Given the description of an element on the screen output the (x, y) to click on. 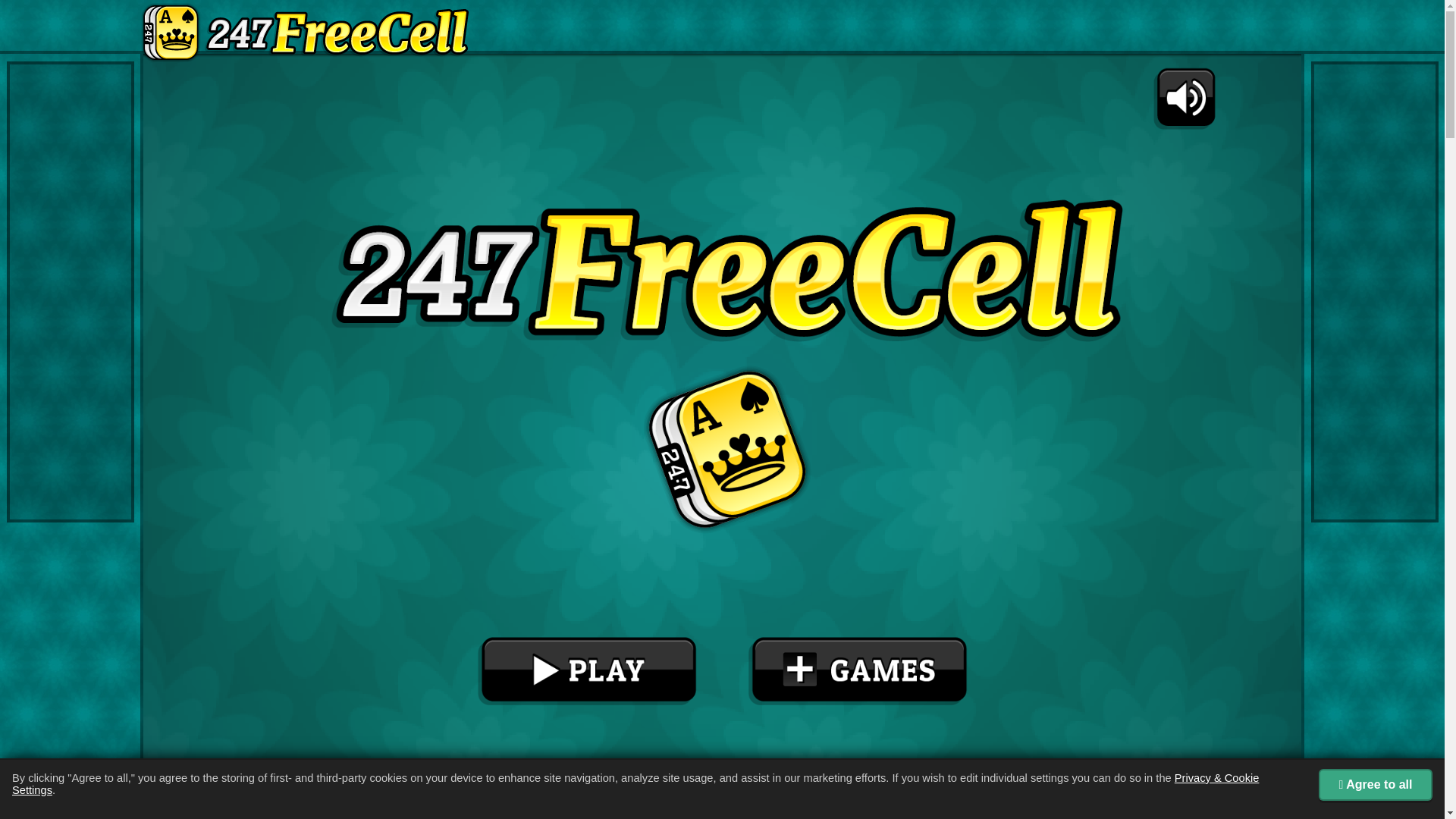
Privacy & Cookie Settings Element type: text (635, 783)
game Element type: hover (722, 430)
